Given the description of an element on the screen output the (x, y) to click on. 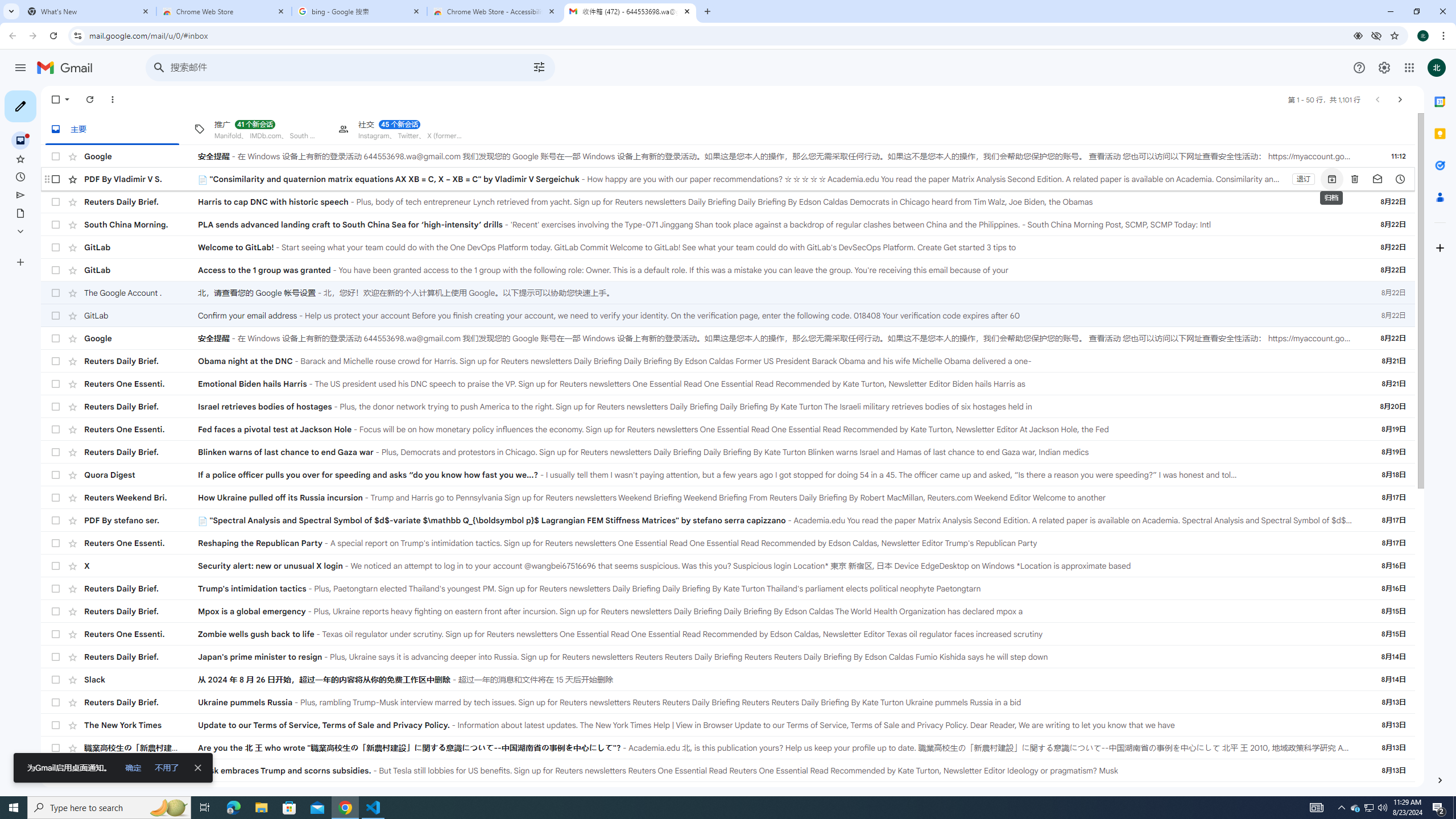
Chrome Web Store - Accessibility (494, 11)
What's New (88, 11)
